Given the description of an element on the screen output the (x, y) to click on. 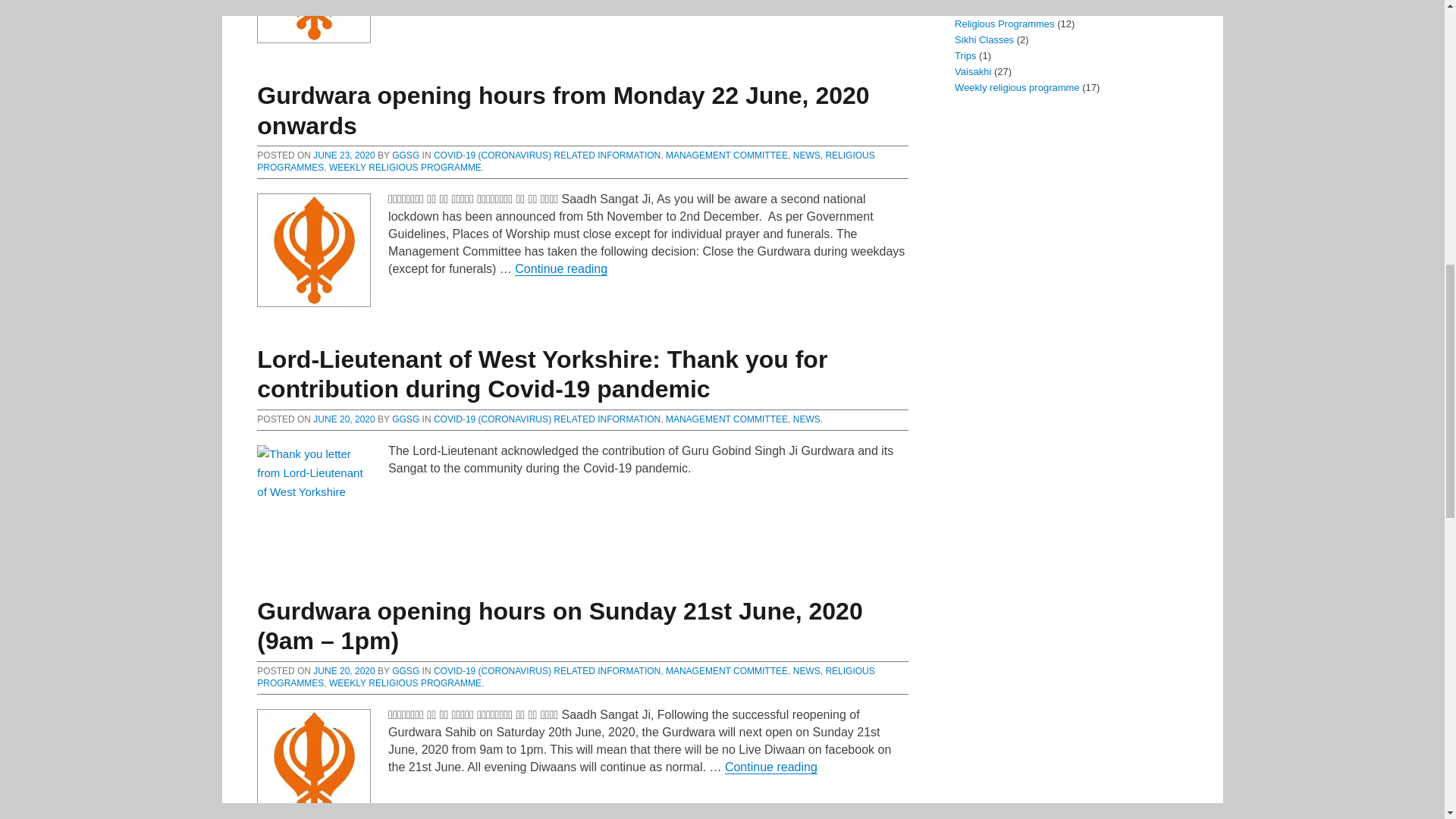
View all posts by GGSG (405, 670)
7:23 am (343, 154)
10:22 pm (343, 670)
10:53 pm (343, 419)
View all posts by GGSG (405, 419)
View all posts by GGSG (405, 154)
